Given the description of an element on the screen output the (x, y) to click on. 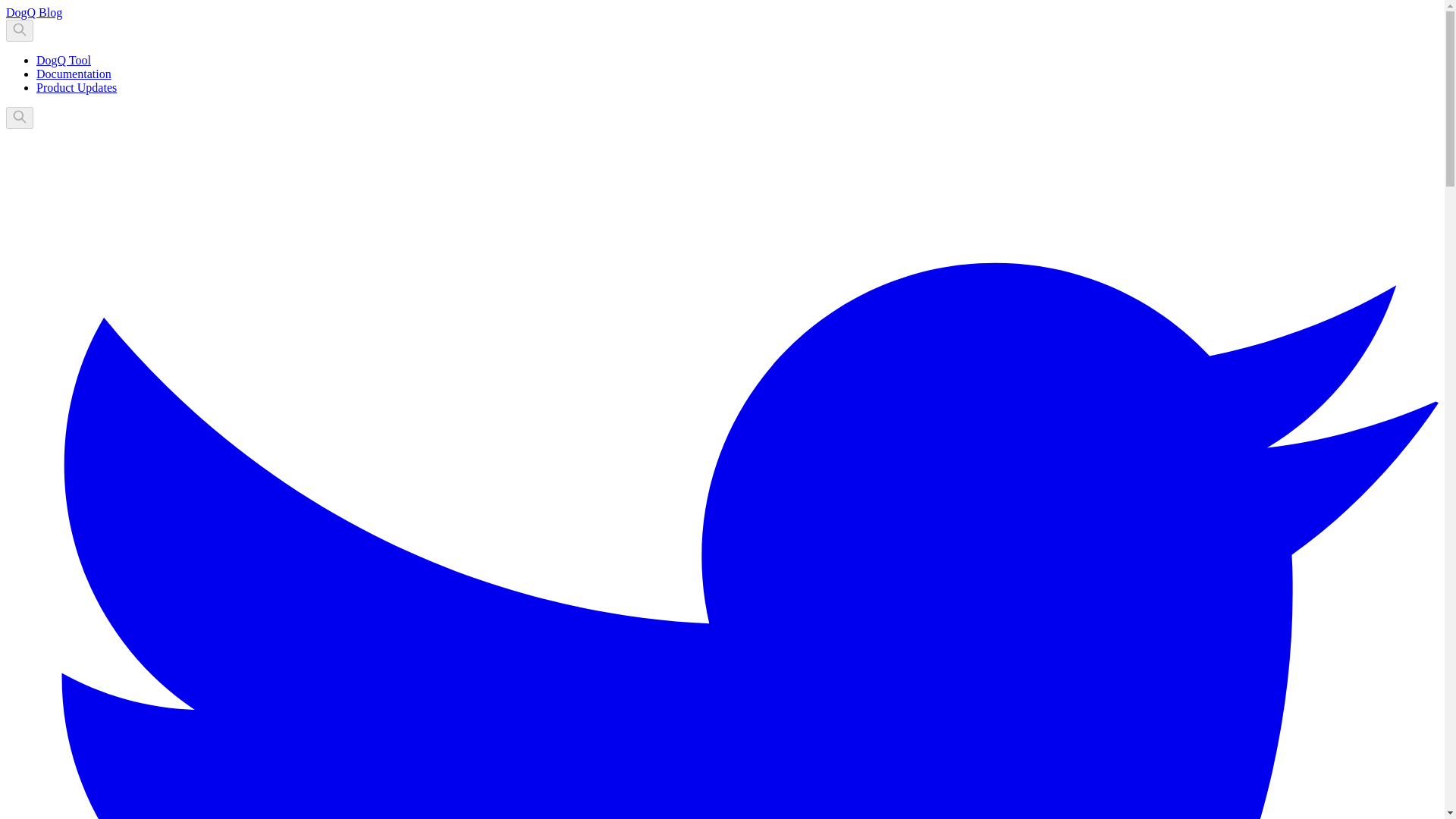
DogQ Blog (33, 11)
Documentation (74, 73)
Product Updates (76, 87)
DogQ Tool (63, 60)
